Given the description of an element on the screen output the (x, y) to click on. 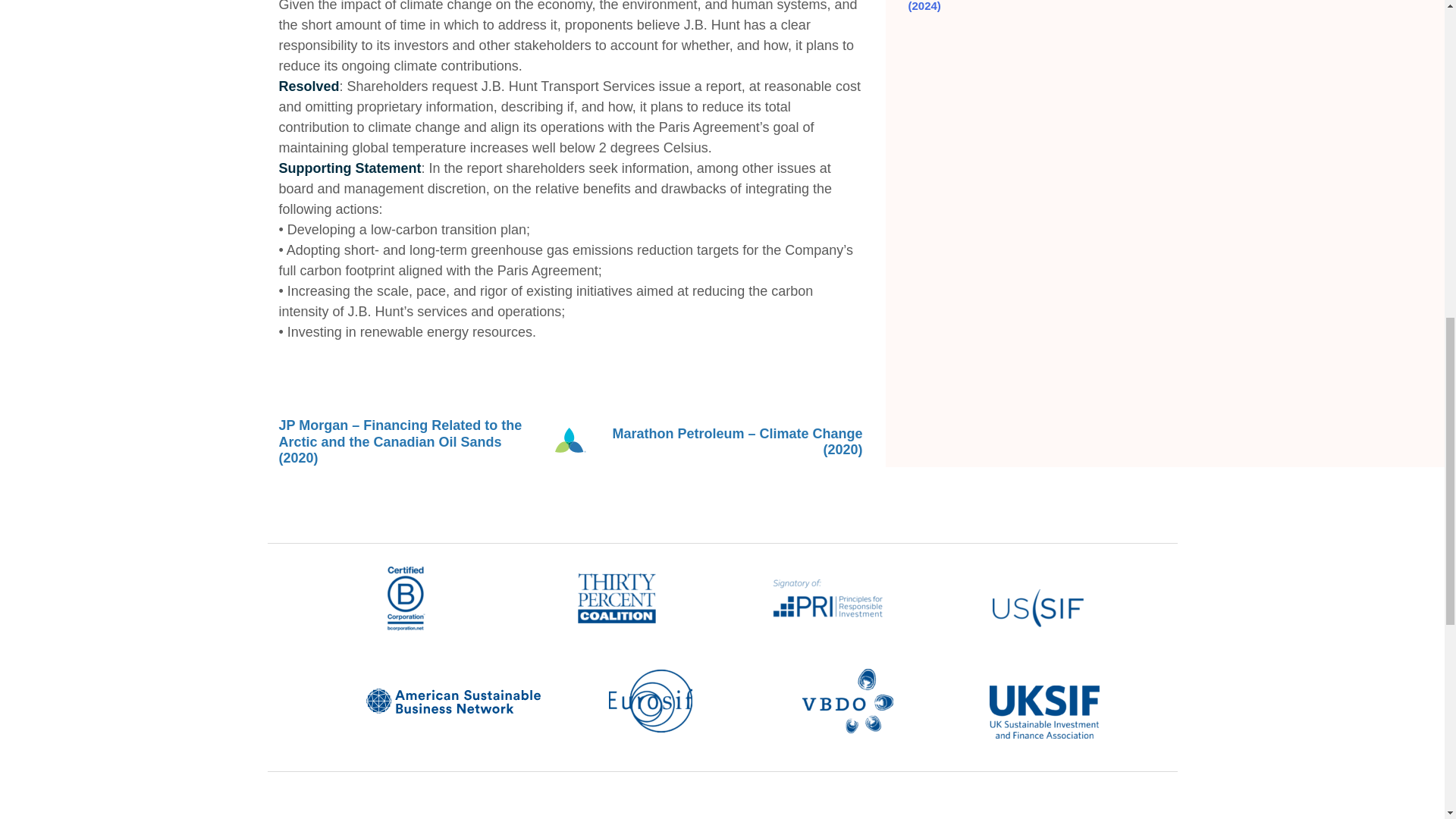
Edinburgh (653, 818)
Melbourne (865, 818)
San Francisco (979, 818)
Amsterdam (446, 818)
